Given the description of an element on the screen output the (x, y) to click on. 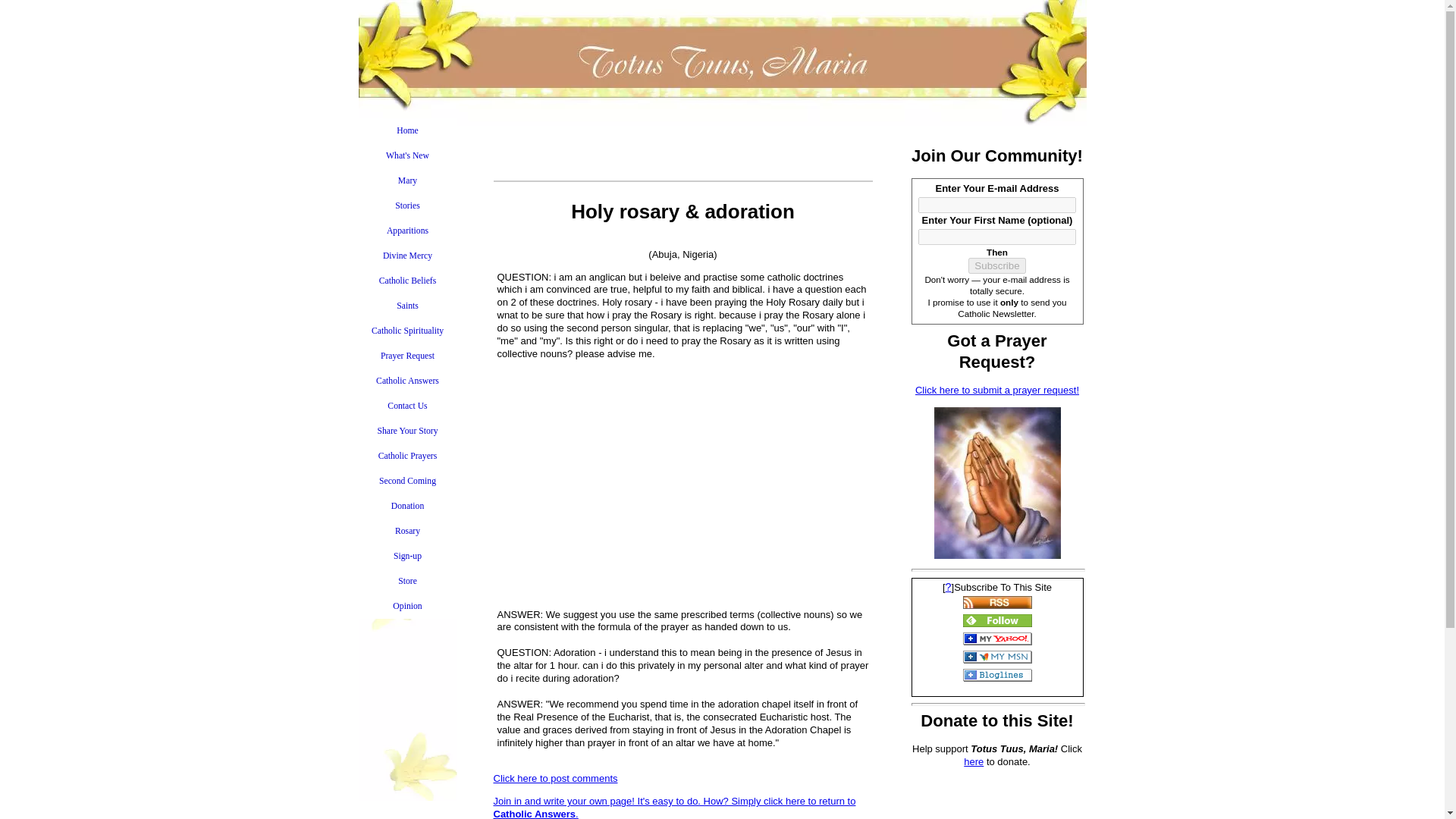
Catholic Spirituality (407, 330)
Advertisement (681, 490)
Prayer Request (407, 355)
Click here to post comments (555, 778)
Subscribe (996, 265)
Divine Mercy (407, 255)
Mary (407, 180)
Sign-up (407, 555)
Stories (407, 205)
Click here to submit a prayer request! (996, 389)
